Given the description of an element on the screen output the (x, y) to click on. 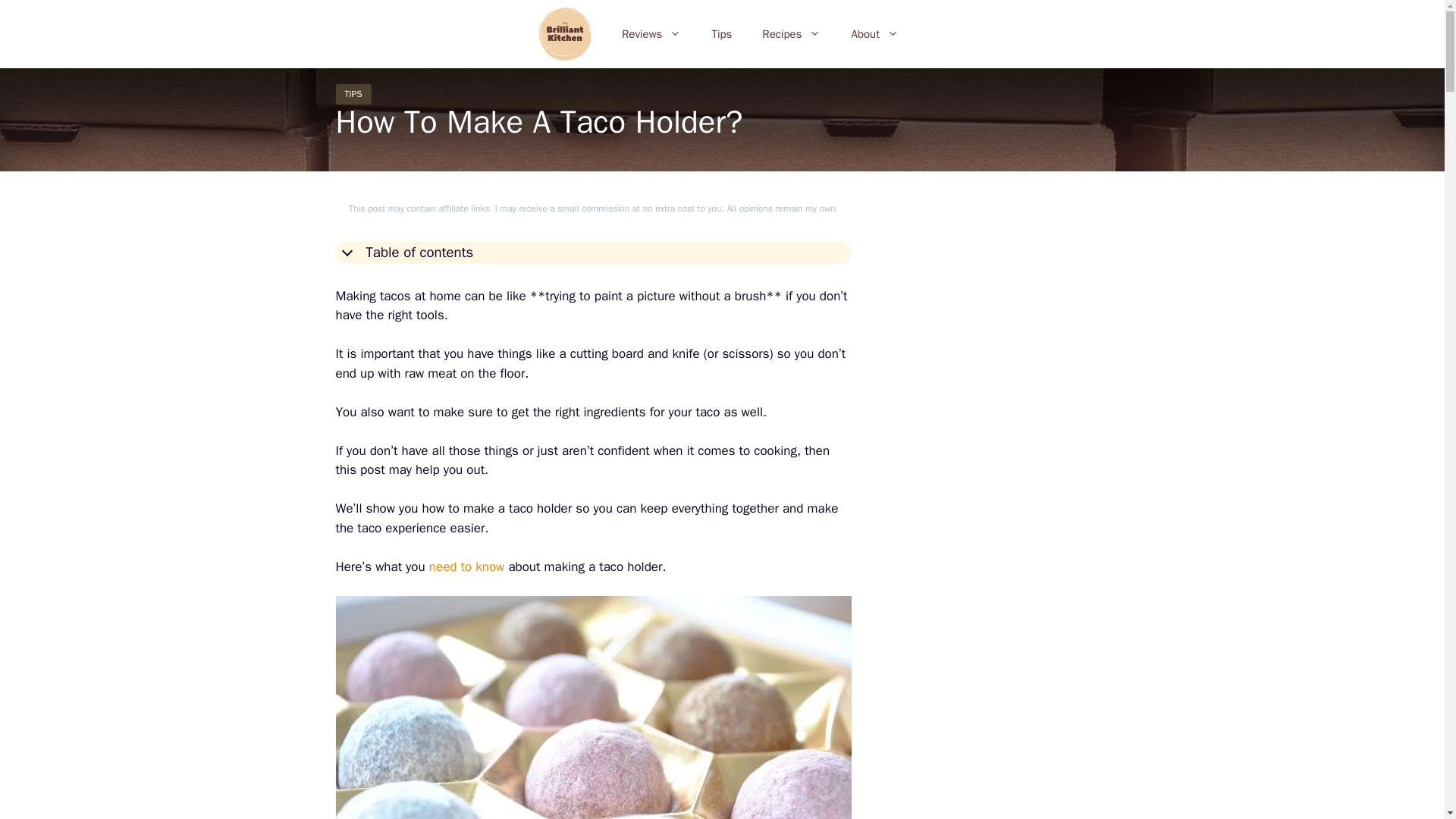
About (873, 33)
Table of contents (592, 251)
Tips (720, 33)
The Brilliant Kitchen (568, 33)
Recipes (790, 33)
Reviews (651, 33)
TIPS (352, 94)
